Given the description of an element on the screen output the (x, y) to click on. 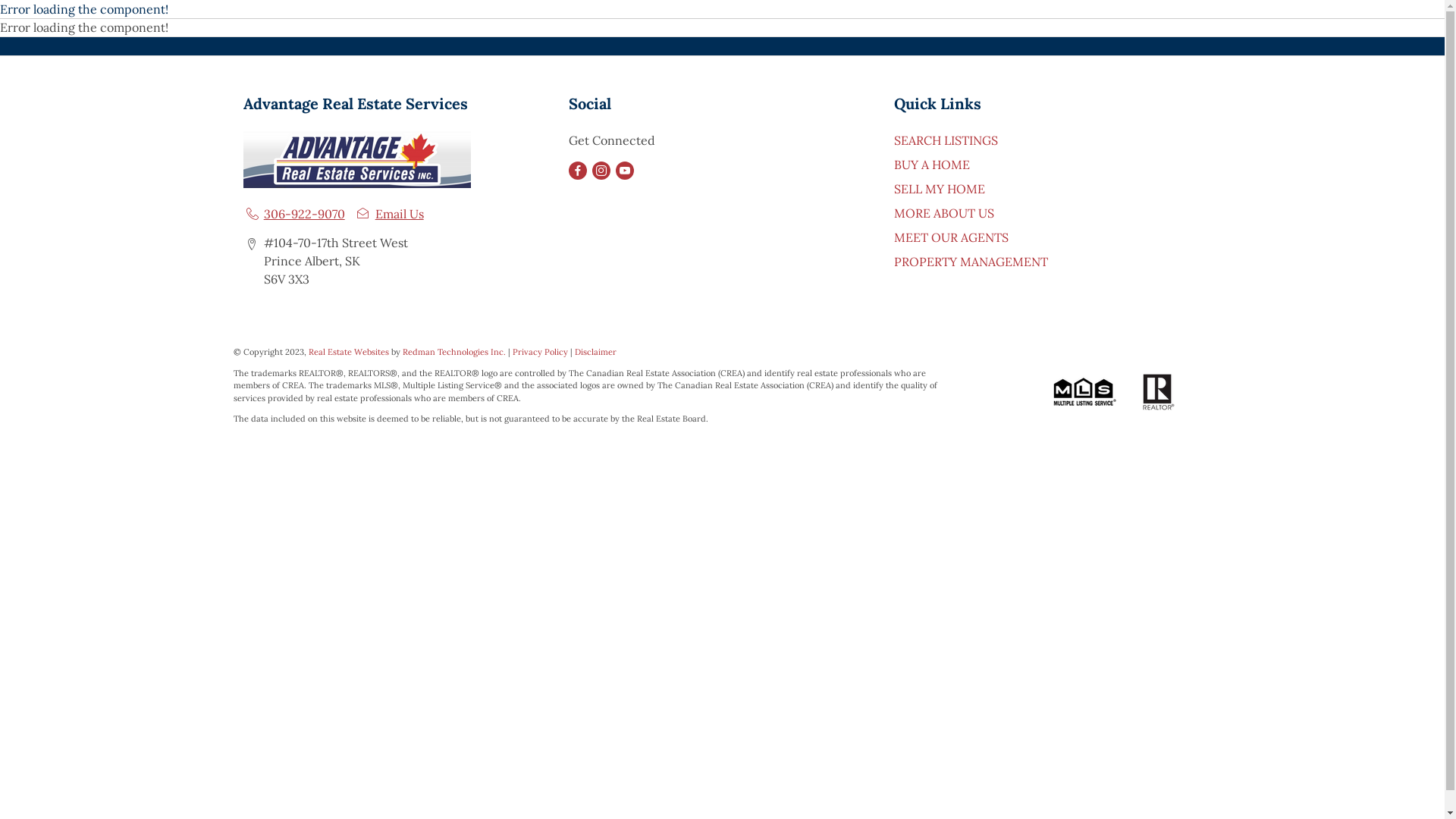
306-922-9070 Element type: text (293, 213)
Real Estate Websites Element type: text (349, 351)
Privacy Policy Element type: text (539, 351)
Disclaimer Element type: text (595, 351)
MEET OUR AGENTS Element type: text (951, 236)
Email Us Element type: text (388, 213)
SEARCH LISTINGS Element type: text (945, 139)
PROPERTY MANAGEMENT Element type: text (971, 260)
SELL MY HOME Element type: text (939, 187)
MORE ABOUT US Element type: text (944, 211)
Redman Technologies Inc. Element type: text (455, 351)
BUY A HOME Element type: text (931, 163)
